Given the description of an element on the screen output the (x, y) to click on. 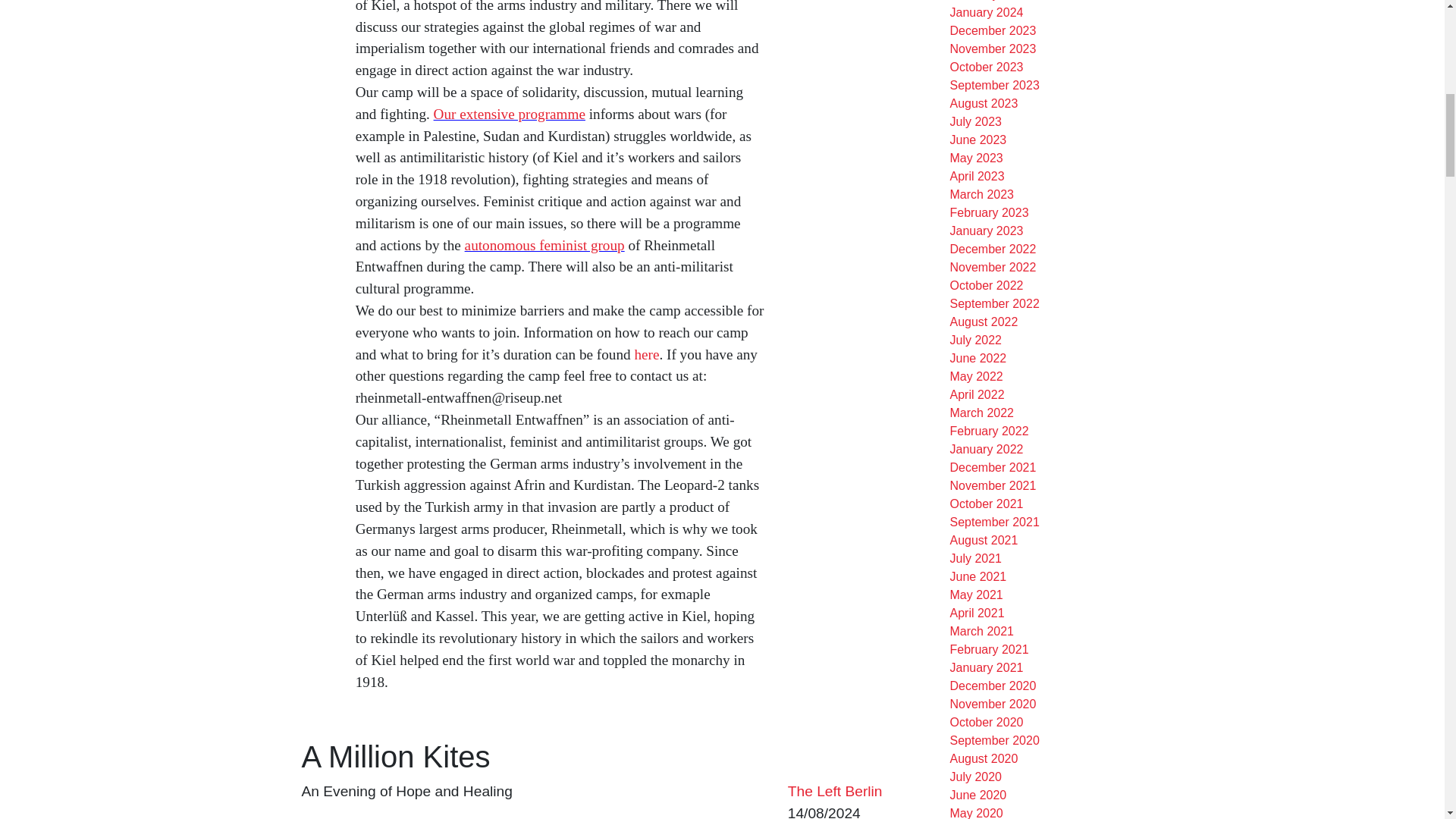
autonomous feminist group (544, 245)
The Left Berlin (834, 790)
here (646, 354)
Our extensive programme (509, 114)
